Given the description of an element on the screen output the (x, y) to click on. 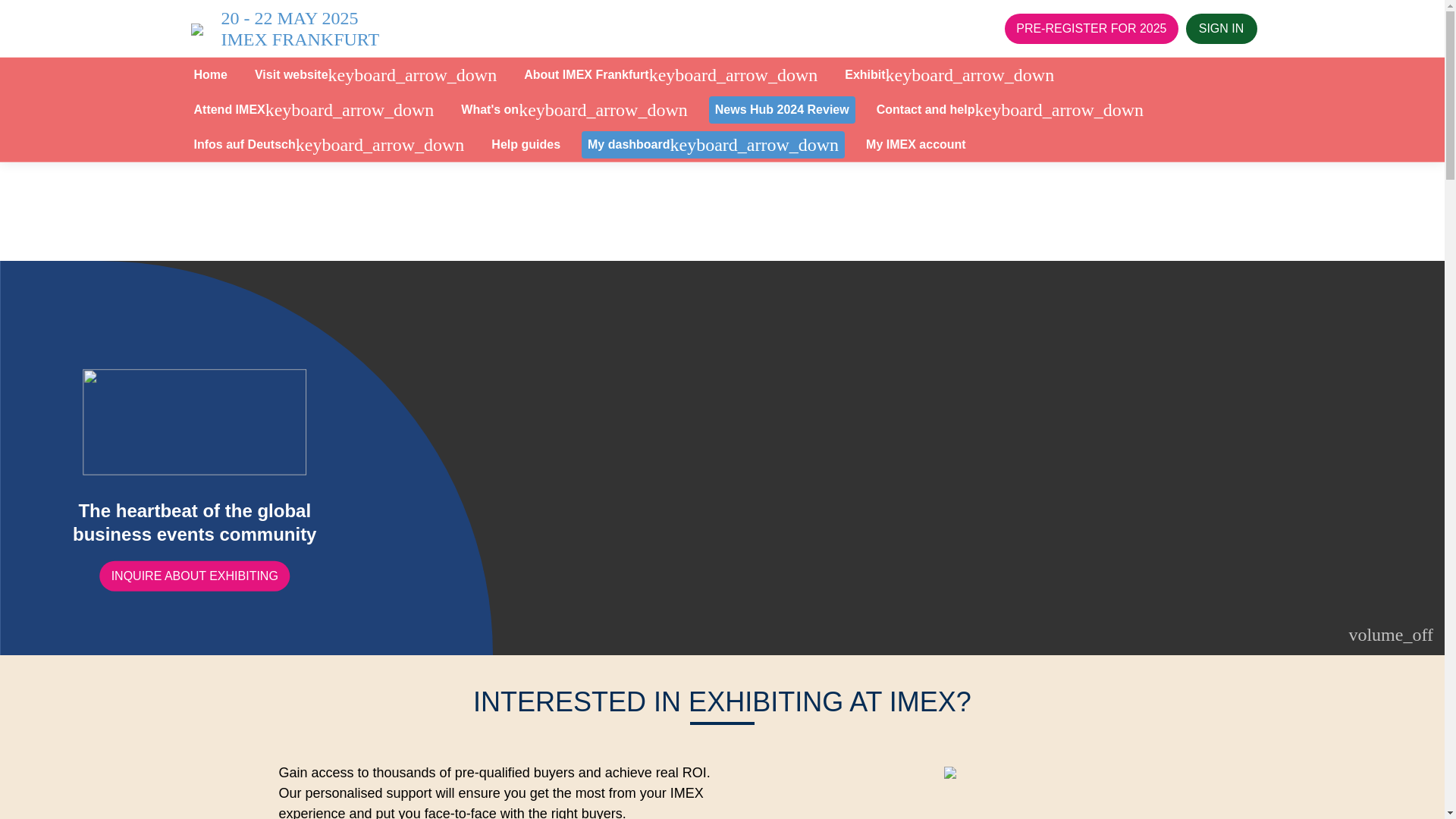
Exhibit (948, 74)
Attend IMEX (314, 109)
Visit website (375, 74)
About IMEX Frankfurt (671, 74)
What's on (573, 109)
Home (209, 74)
News Hub 2024 Review (782, 109)
